Given the description of an element on the screen output the (x, y) to click on. 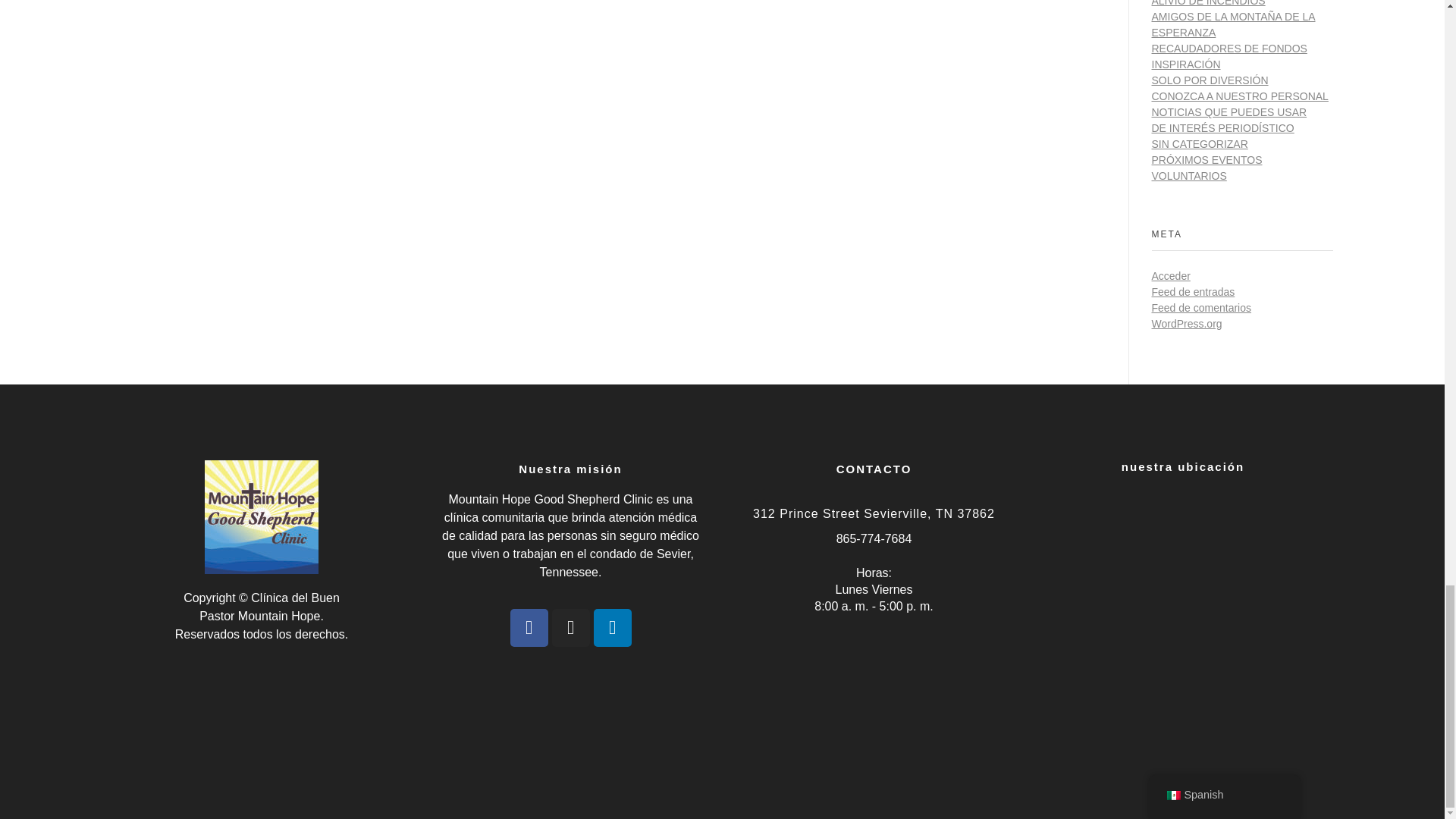
312 Prince Street Sevierville, TN 37862 (1182, 628)
